Given the description of an element on the screen output the (x, y) to click on. 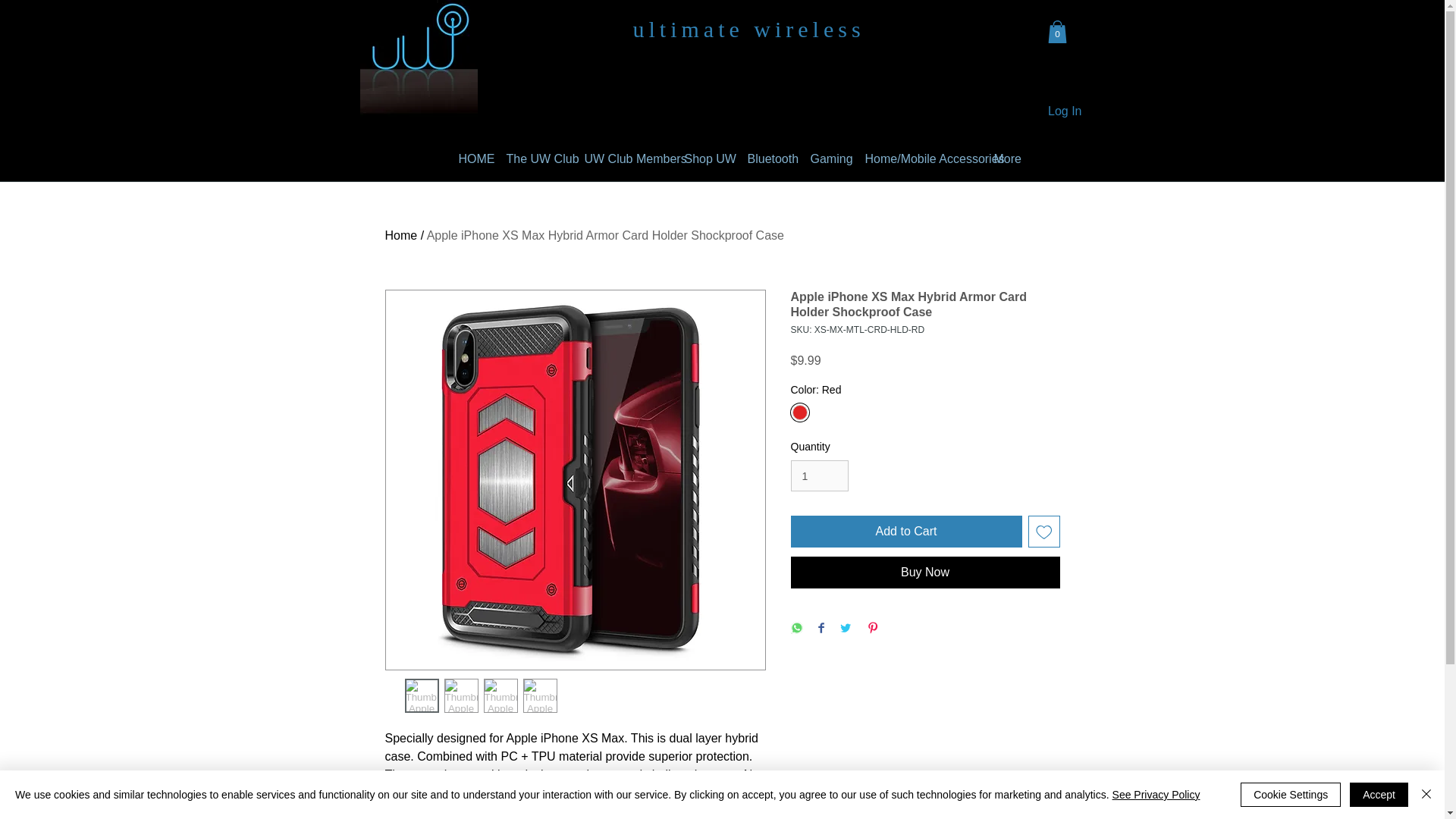
1 (818, 475)
Home (401, 235)
Apple iPhone XS Max Hybrid Armor Card Holder Shockproof Case (605, 235)
Log In (1064, 111)
UW logo.jpg (418, 58)
